Given the description of an element on the screen output the (x, y) to click on. 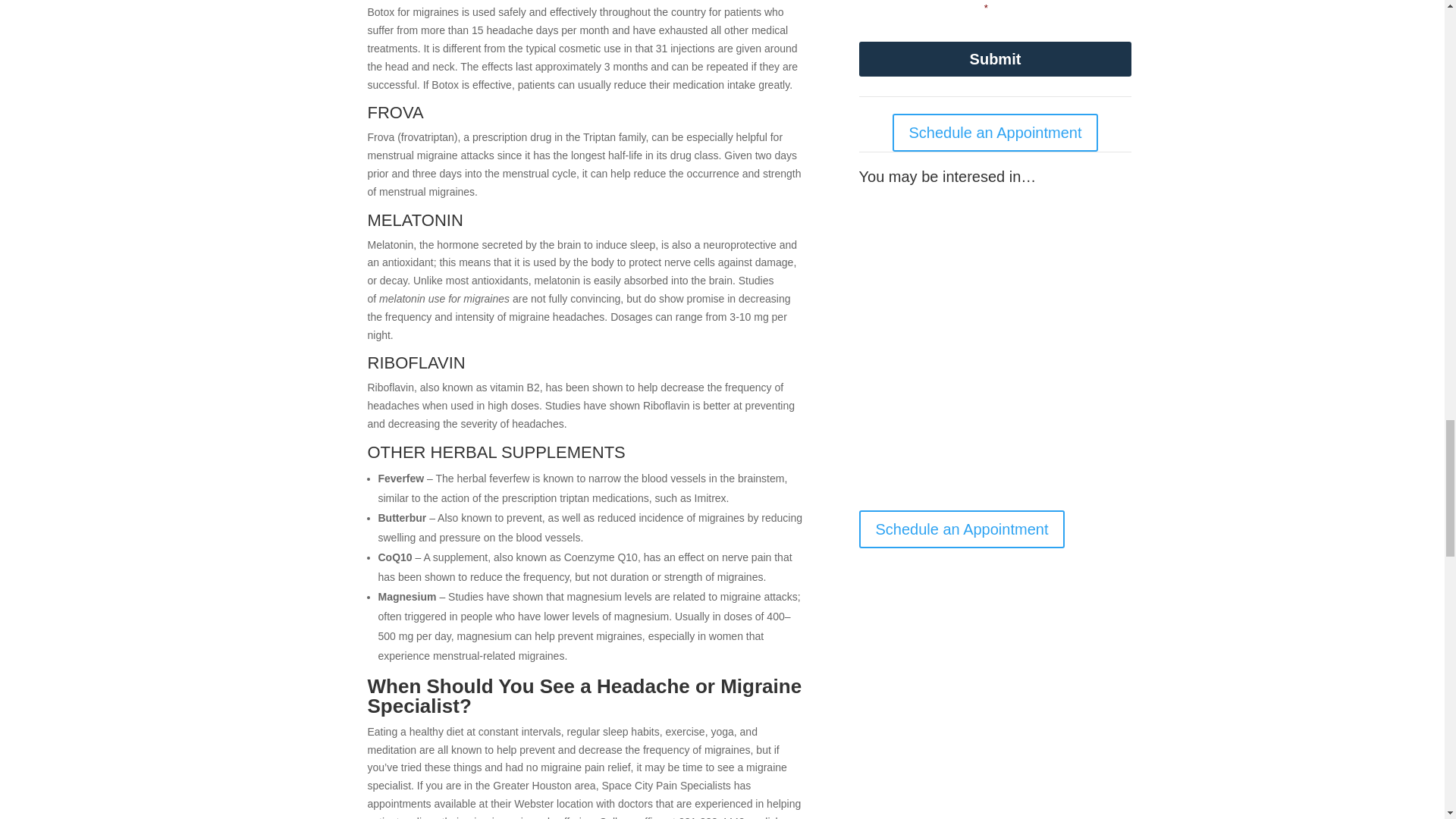
Submit (995, 58)
